Given the description of an element on the screen output the (x, y) to click on. 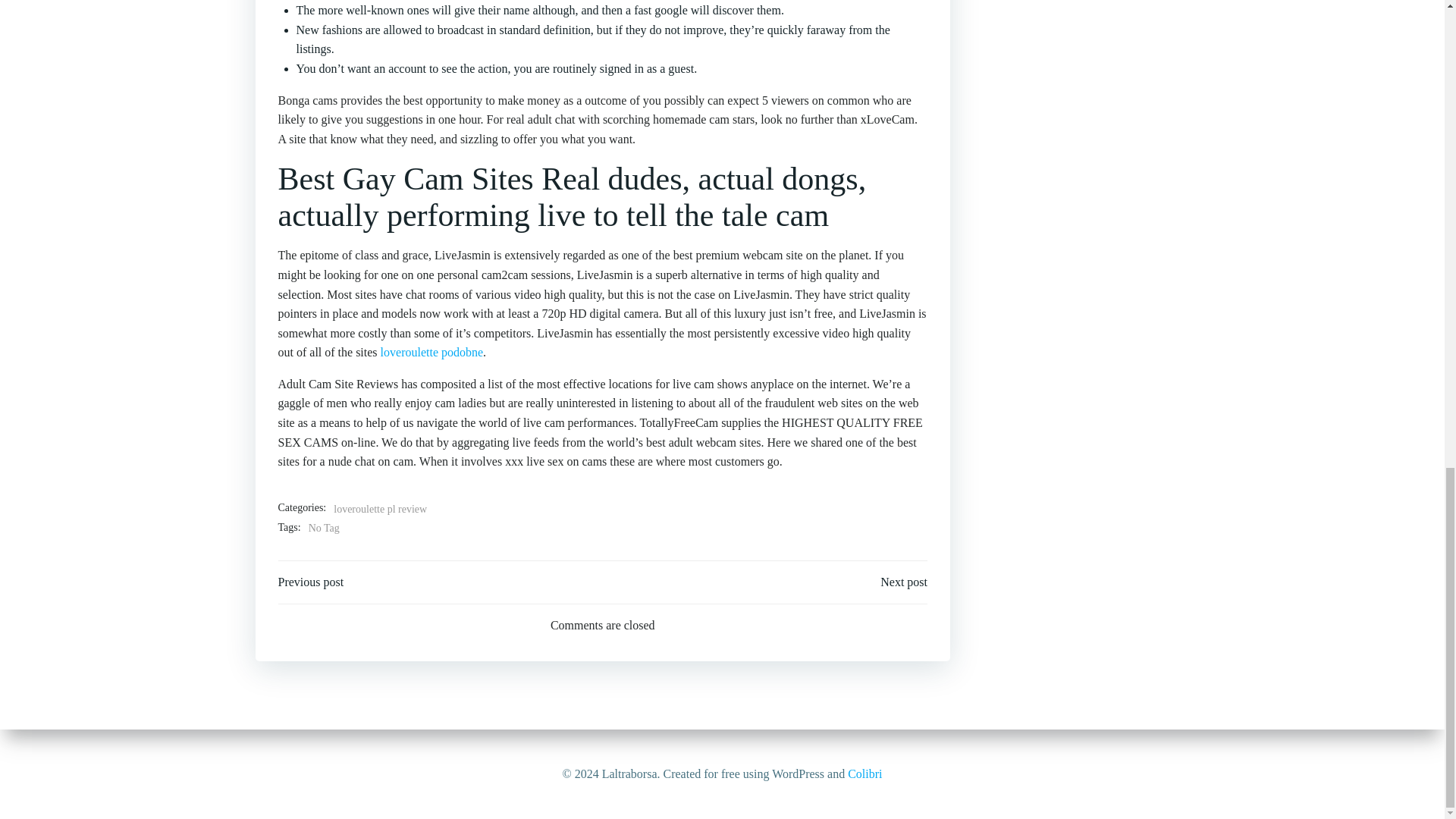
Previous post (310, 582)
loveroulette pl review (379, 509)
Next post (903, 582)
loveroulette podobne (431, 351)
